Given the description of an element on the screen output the (x, y) to click on. 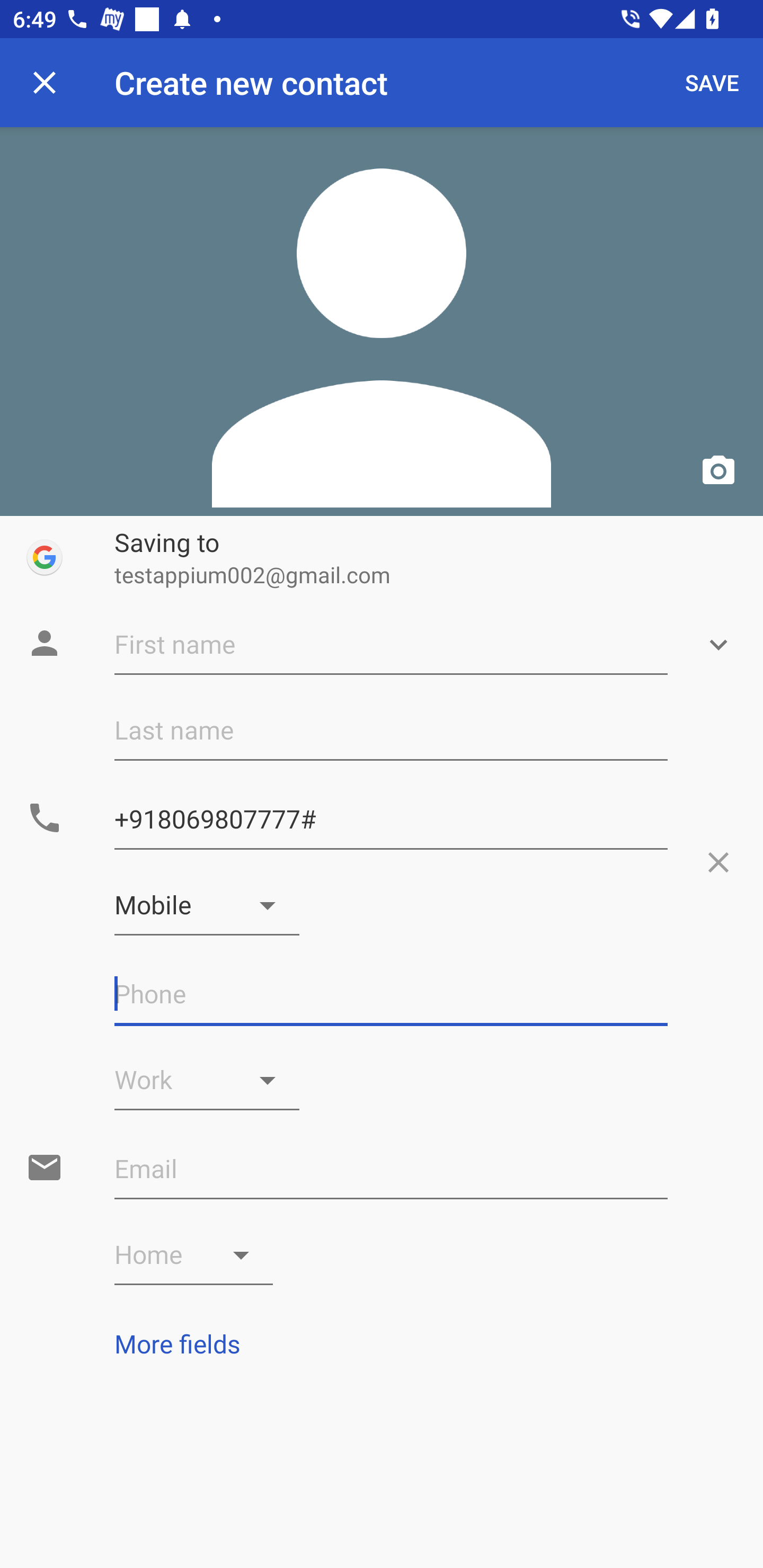
Cancel (44, 82)
SAVE (712, 82)
Add contact photo (381, 321)
First name (390, 645)
Show more name fields (718, 645)
Last name (390, 730)
+918069807777# (390, 819)
Delete Mobile Phone delete (718, 862)
Phone Mobile (206, 905)
Phone (390, 993)
Phone Work (206, 1079)
Email (390, 1168)
Email Home (193, 1255)
More fields (381, 1343)
